Given the description of an element on the screen output the (x, y) to click on. 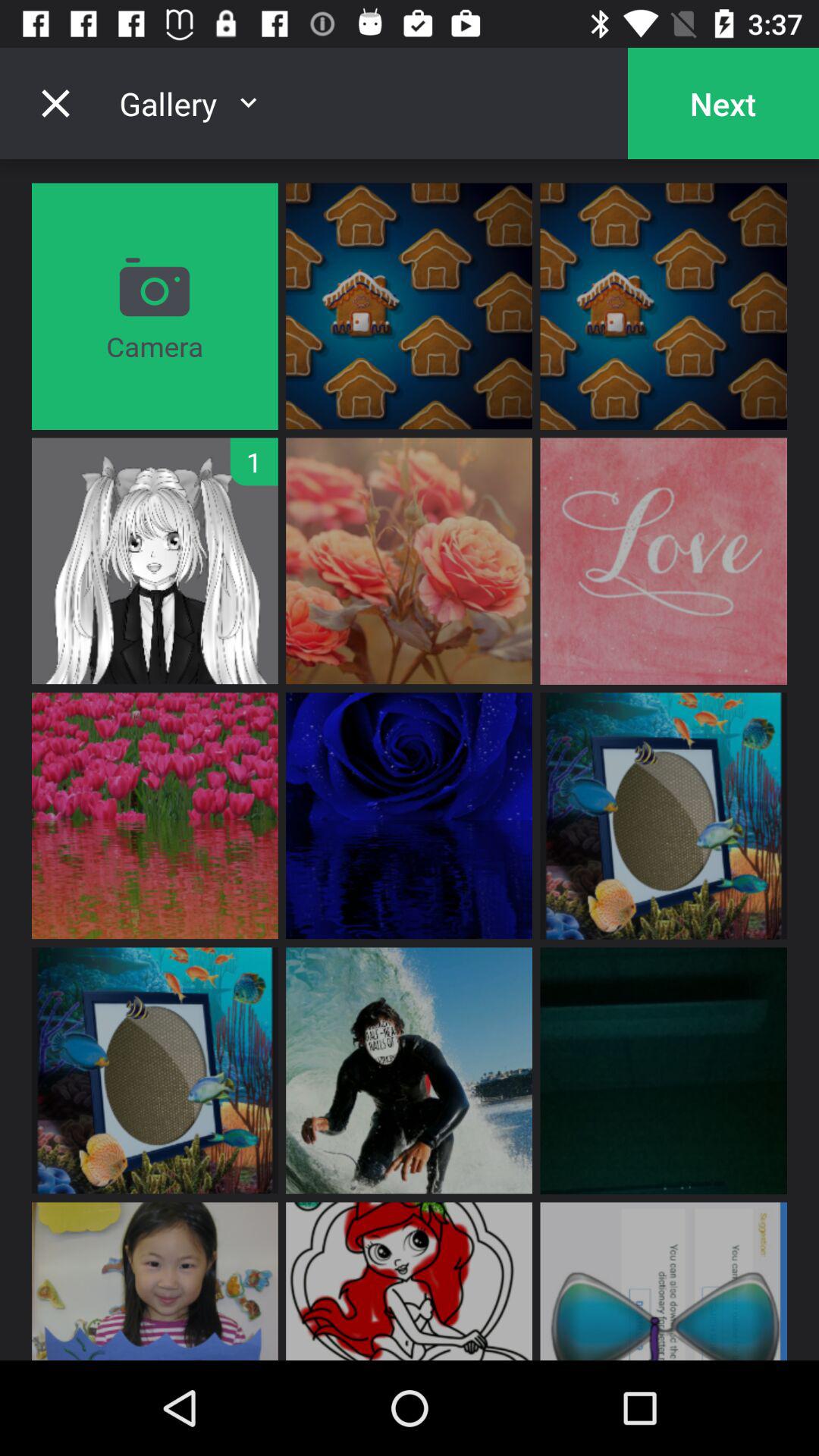
close gallery (55, 103)
